Given the description of an element on the screen output the (x, y) to click on. 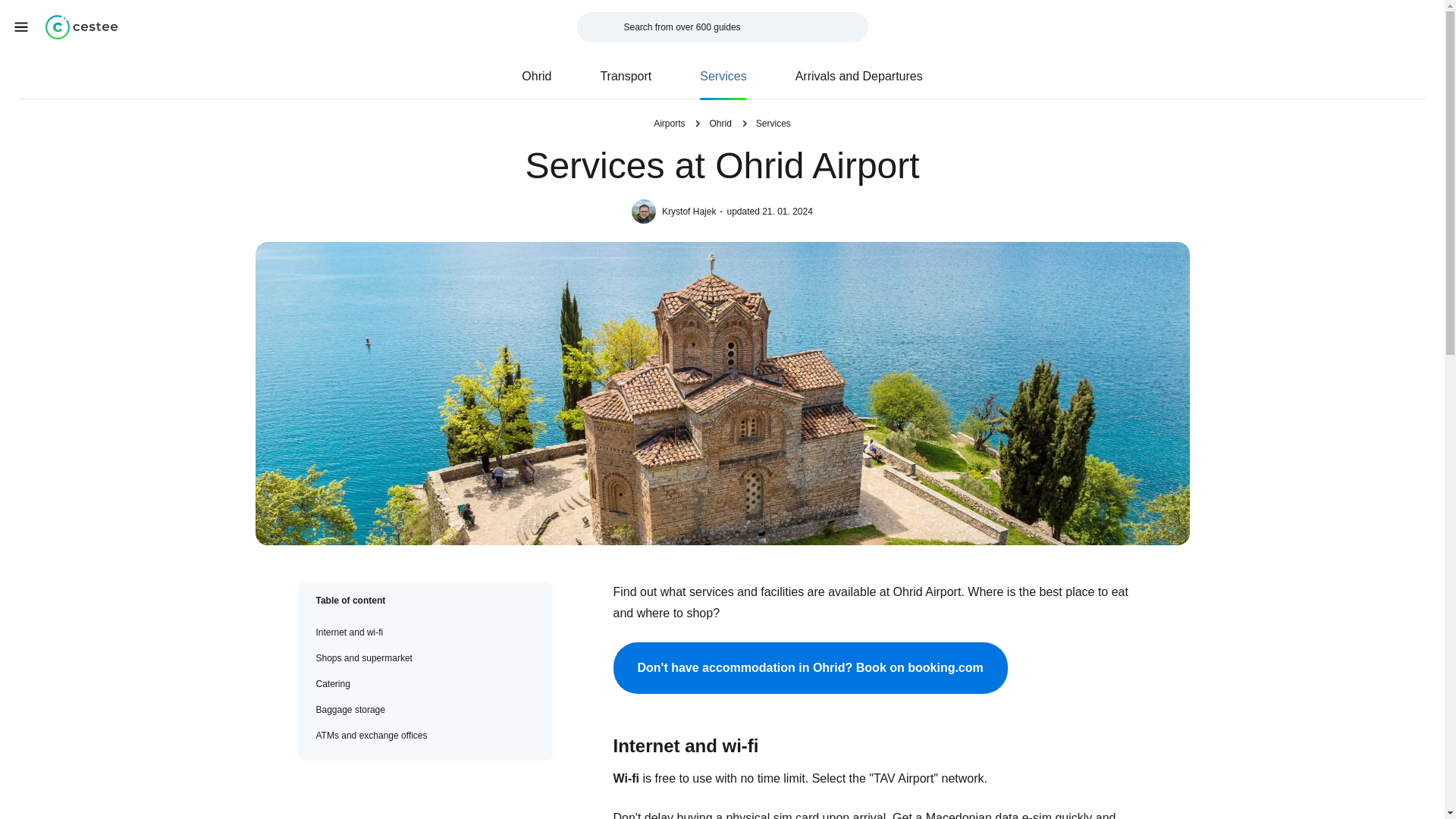
Airports (668, 123)
Transport (625, 76)
Catering (424, 683)
Baggage storage (424, 709)
Ohrid (719, 123)
Services (722, 76)
Services (772, 123)
ATMs and exchange offices (424, 735)
Krystof Hajek (692, 211)
Advertisement (410, 798)
Ohrid (536, 76)
Don't have accommodation in Ohrid? Book on booking.com (809, 667)
Arrivals and Departures (859, 76)
Shops and supermarket (424, 657)
Internet and wi-fi (424, 632)
